Given the description of an element on the screen output the (x, y) to click on. 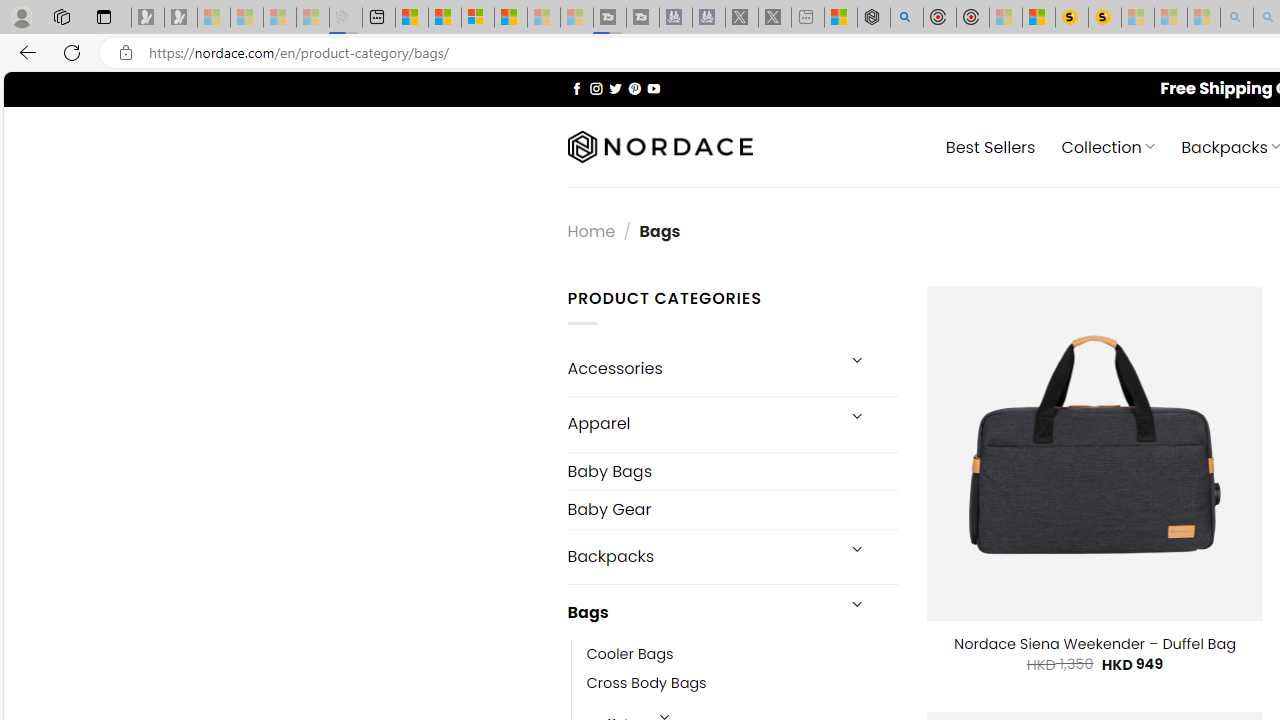
Streaming Coverage | T3 - Sleeping (609, 17)
New tab - Sleeping (808, 17)
Nordace (659, 147)
Cooler Bags (742, 655)
Newsletter Sign Up - Sleeping (181, 17)
Follow on Twitter (615, 88)
Personal Profile (21, 16)
